Given the description of an element on the screen output the (x, y) to click on. 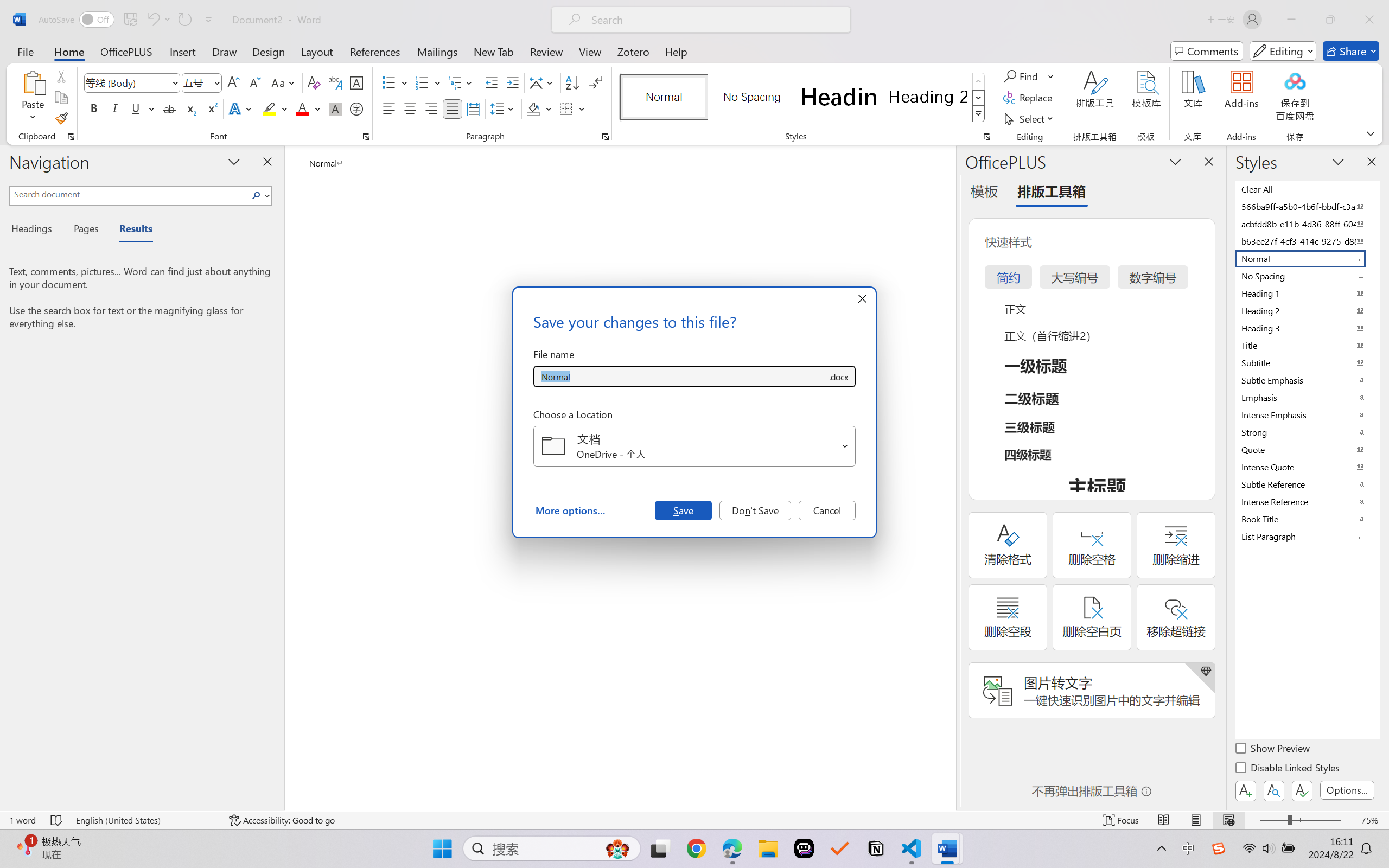
Repeat Style (184, 19)
Decrease Indent (491, 82)
Font Color (308, 108)
Font... (365, 136)
Zoom In (1348, 819)
Subtle Reference (1306, 484)
Intense Emphasis (1306, 414)
Notion (875, 848)
Row up (978, 81)
